Given the description of an element on the screen output the (x, y) to click on. 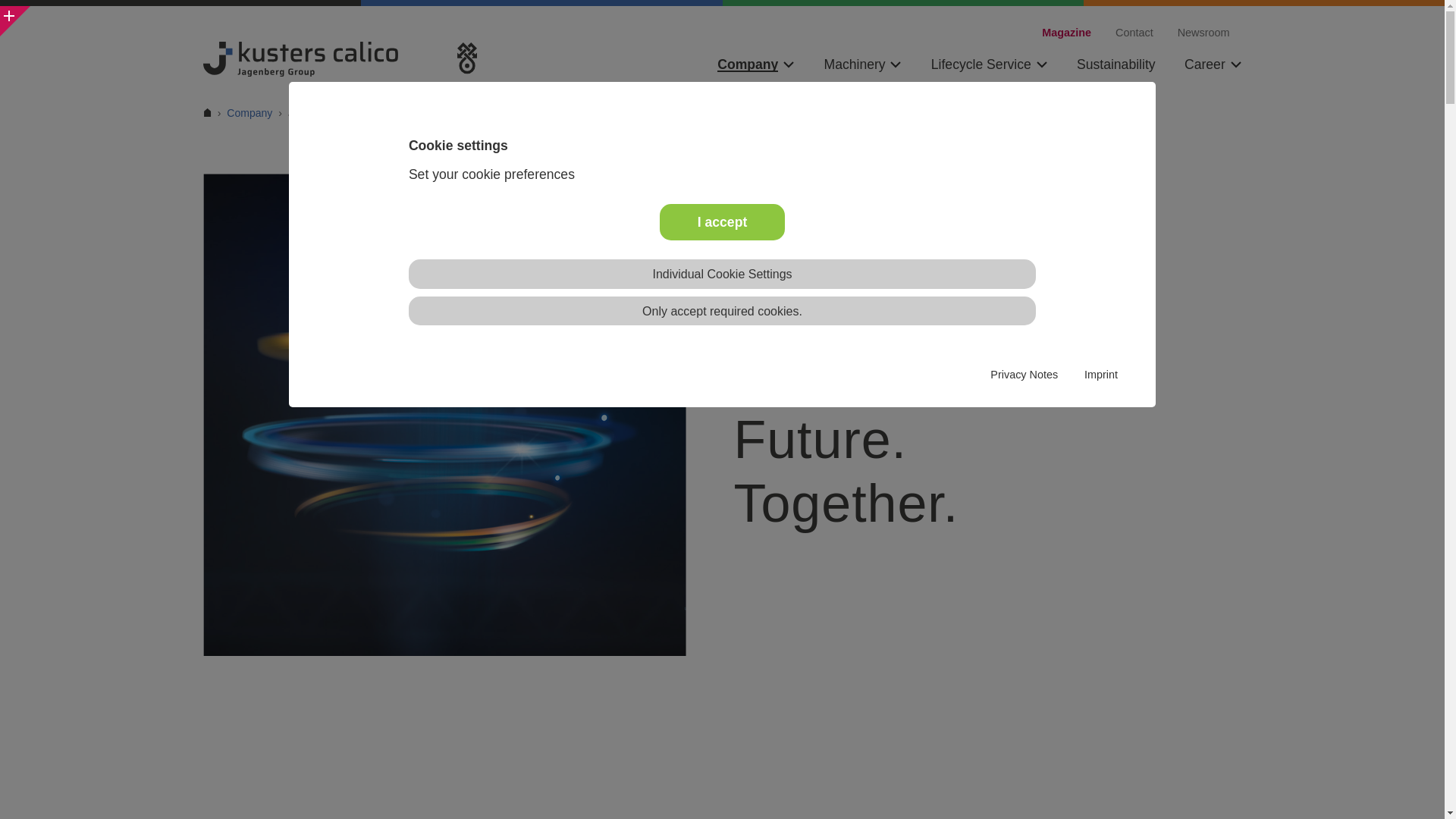
Newsroom (1203, 32)
Individual Cookie Settings (722, 273)
Company (756, 64)
Contact (1134, 32)
Newsroom (1203, 32)
Imprint (1101, 375)
Machinery (862, 64)
Only accept required cookies. (722, 310)
Contact (1134, 32)
Magazine (1066, 32)
Privacy Notes (1024, 375)
Company (756, 64)
I accept (722, 221)
Machinery (862, 64)
Magazine (1066, 32)
